Given the description of an element on the screen output the (x, y) to click on. 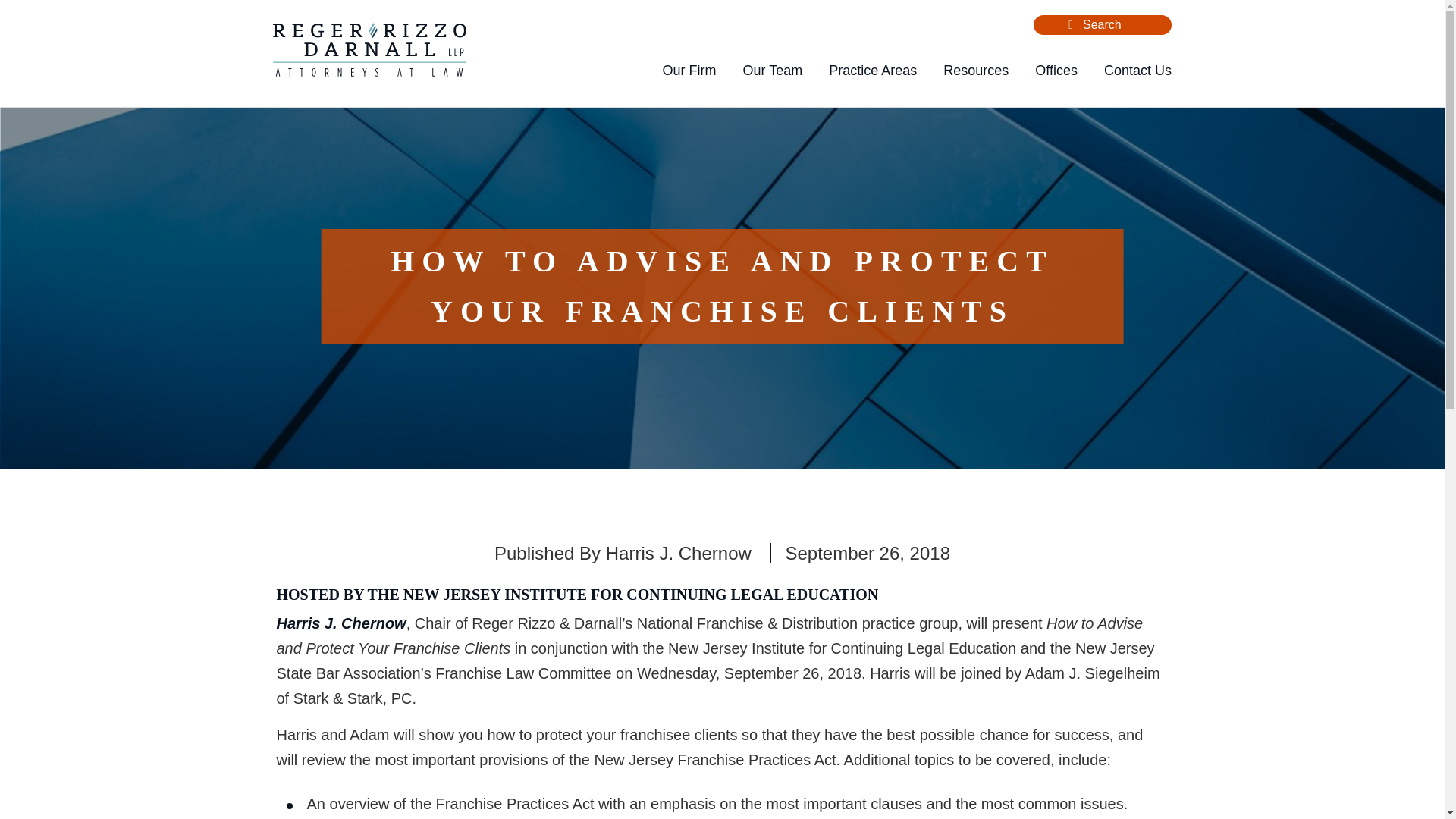
Resources (976, 71)
Our Firm (689, 71)
Harris J. Chernow (678, 552)
Harris J. Chernow (341, 623)
Search (1070, 24)
Our Team (772, 71)
Offices (1056, 71)
Practice Areas (872, 71)
Contact Us (1137, 71)
